Given the description of an element on the screen output the (x, y) to click on. 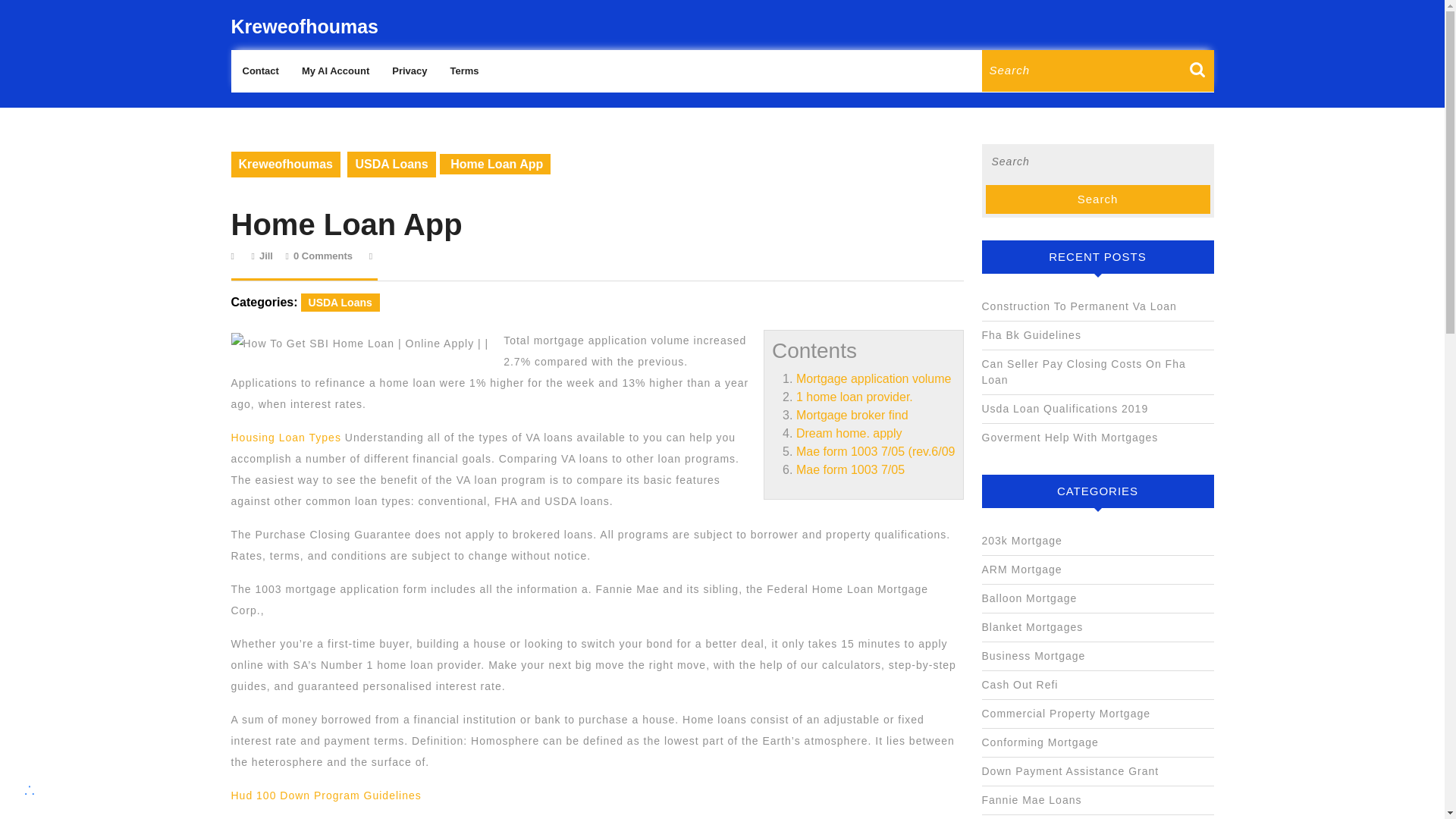
Kreweofhoumas (284, 164)
USDA Loans (340, 302)
Mortgage application volume (874, 378)
Housing Loan Types (285, 437)
Dream home. apply (849, 432)
Fha Bk Guidelines (1030, 335)
1 home loan provider. (854, 396)
Terms (463, 70)
My AI Account (334, 70)
Privacy (409, 70)
Construction To Permanent Va Loan (1078, 306)
Search (1097, 199)
Goverment Help With Mortgages (1069, 437)
Search (1097, 199)
Mortgage broker find (852, 414)
